Given the description of an element on the screen output the (x, y) to click on. 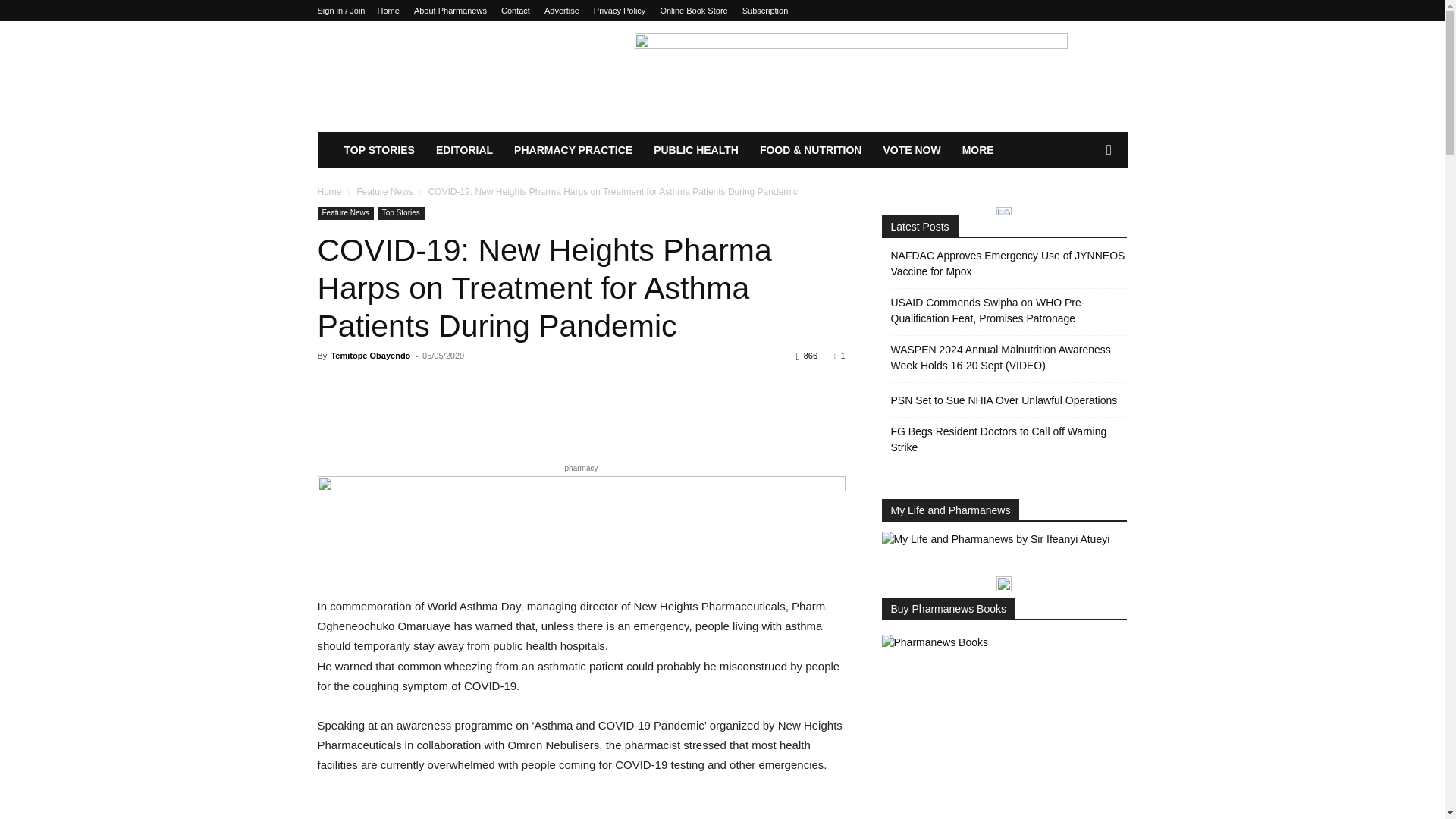
Advertise (561, 10)
TOP STORIES (379, 149)
VOTE NOW (911, 149)
About Pharmanews (449, 10)
PUBLIC HEALTH (696, 149)
Contact (514, 10)
Home (387, 10)
Subscription (765, 10)
Search (1085, 210)
Home (328, 191)
